Given the description of an element on the screen output the (x, y) to click on. 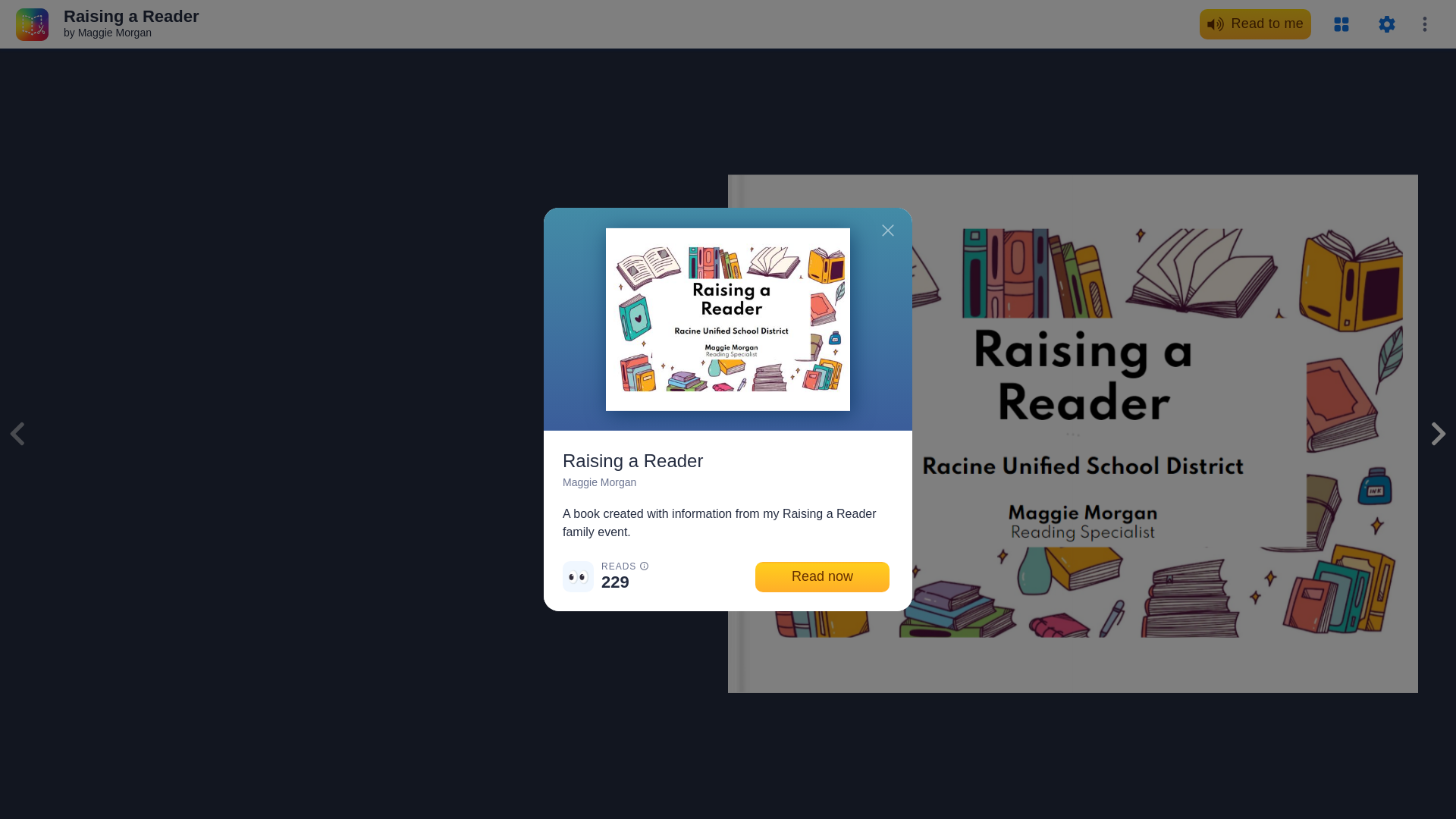
Go to Book Creator website (32, 23)
Menu (1424, 24)
Read now (822, 576)
Settings (1386, 24)
Pages (1341, 24)
Book Creator (32, 23)
Read to me (1255, 24)
